Given the description of an element on the screen output the (x, y) to click on. 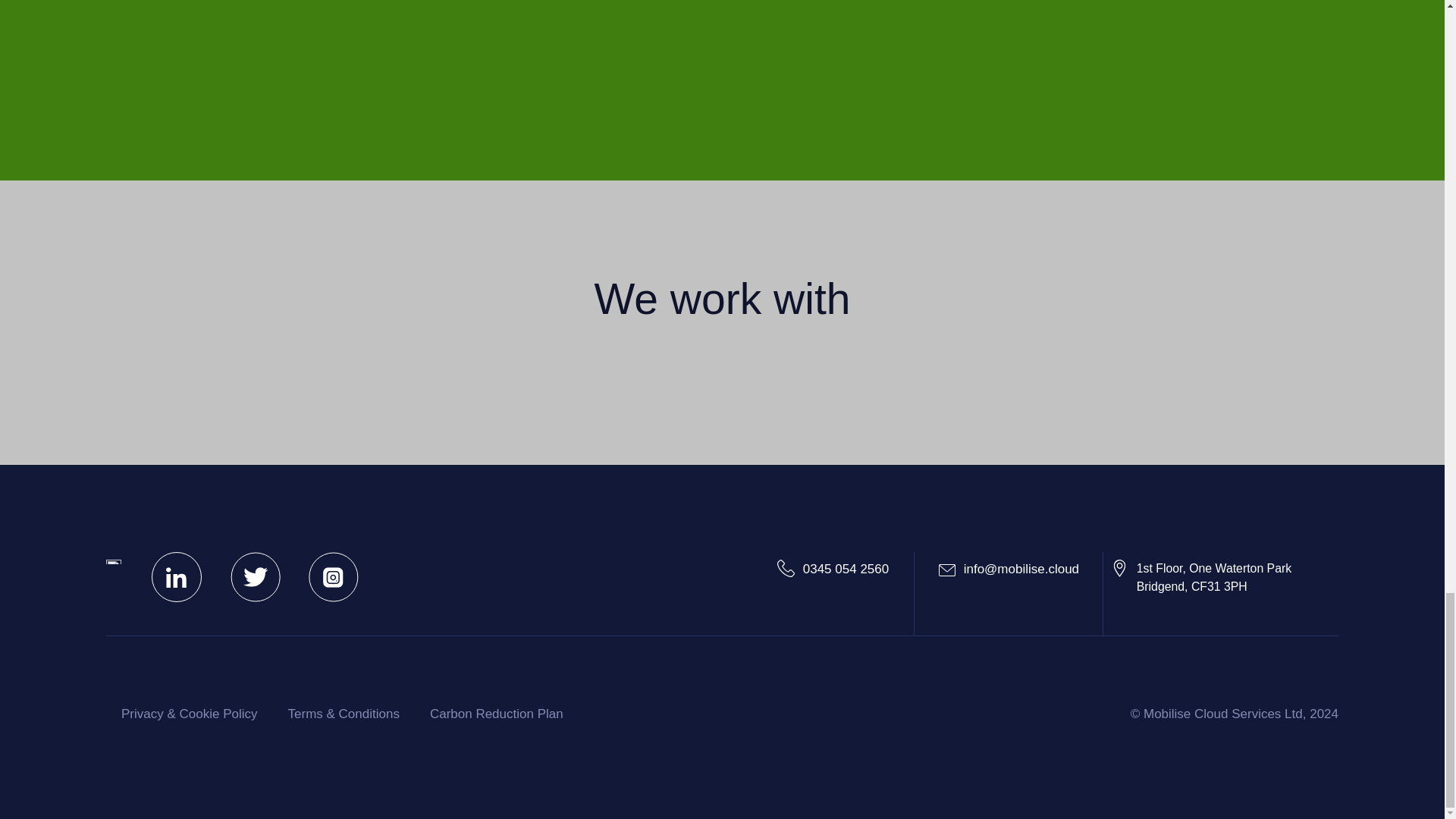
0345 054 2560 (832, 569)
Carbon Reduction Plan (1200, 577)
